Given the description of an element on the screen output the (x, y) to click on. 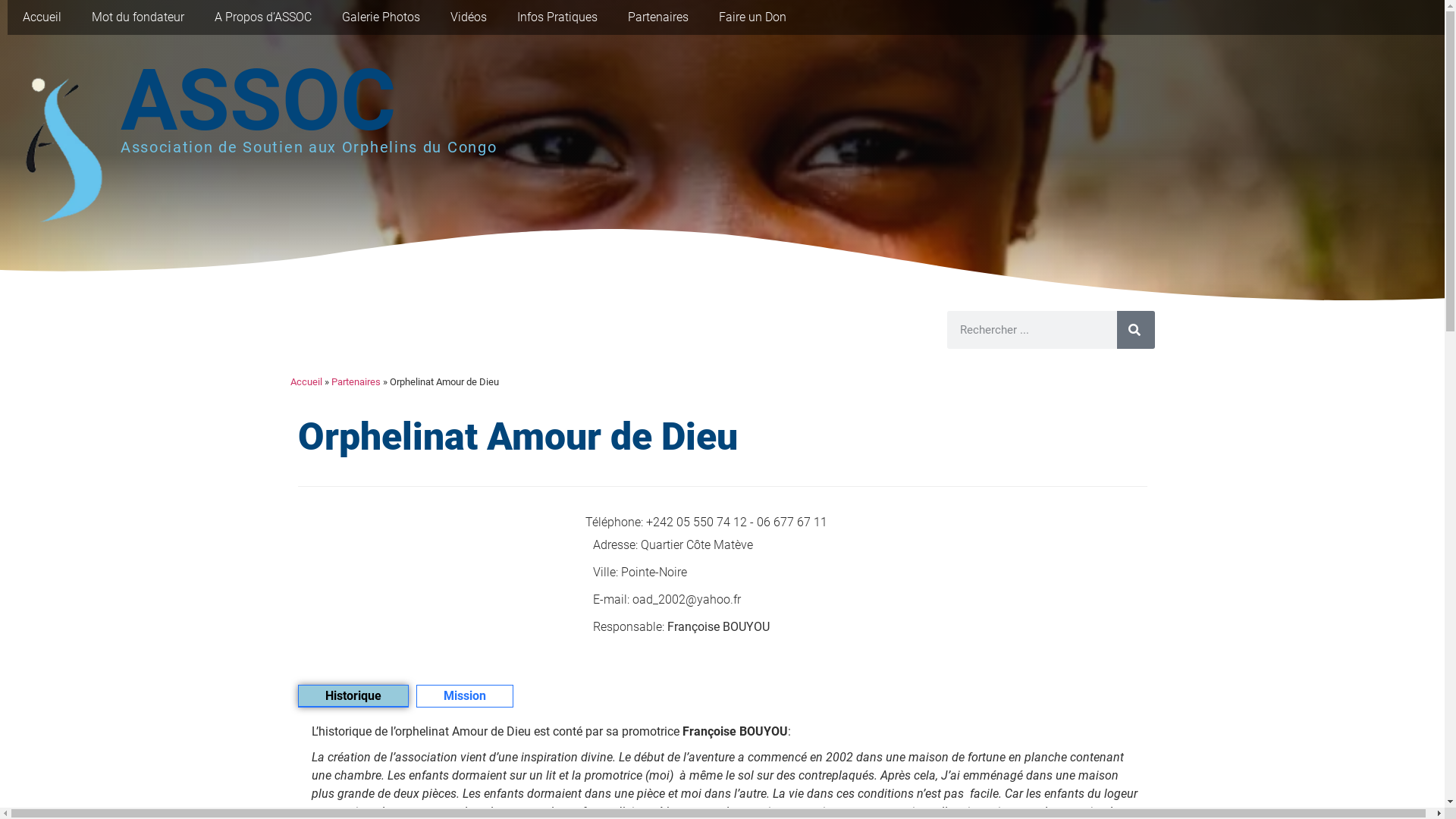
Partenaires Element type: text (657, 17)
Partenaires Element type: text (354, 381)
ASSOC Element type: text (257, 100)
Faire un Don Element type: text (752, 17)
Mission Element type: text (463, 695)
Accueil Element type: text (41, 17)
Historique Element type: text (352, 695)
Infos Pratiques Element type: text (557, 17)
Galerie Photos Element type: text (380, 17)
Mot du fondateur Element type: text (137, 17)
Accueil Element type: text (305, 381)
